Given the description of an element on the screen output the (x, y) to click on. 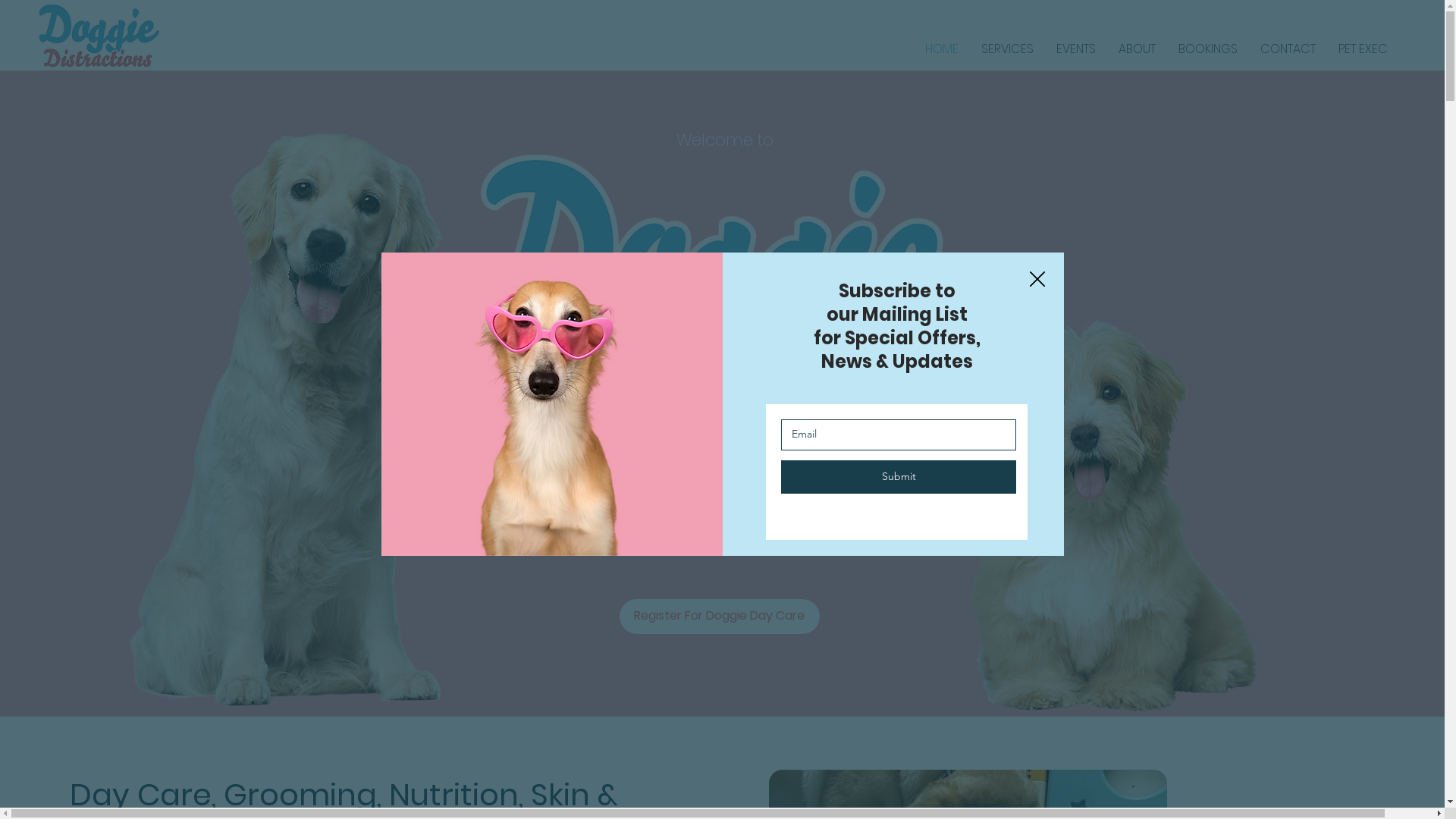
ABOUT Element type: text (1137, 48)
EVENTS Element type: text (1075, 48)
HOME Element type: text (941, 48)
BOOKINGS Element type: text (1207, 48)
PET EXEC Element type: text (1363, 48)
CONTACT Element type: text (1287, 48)
Back to site Element type: hover (1036, 279)
Submit Element type: text (898, 476)
Register For Doggie Day Care Element type: text (719, 616)
